Given the description of an element on the screen output the (x, y) to click on. 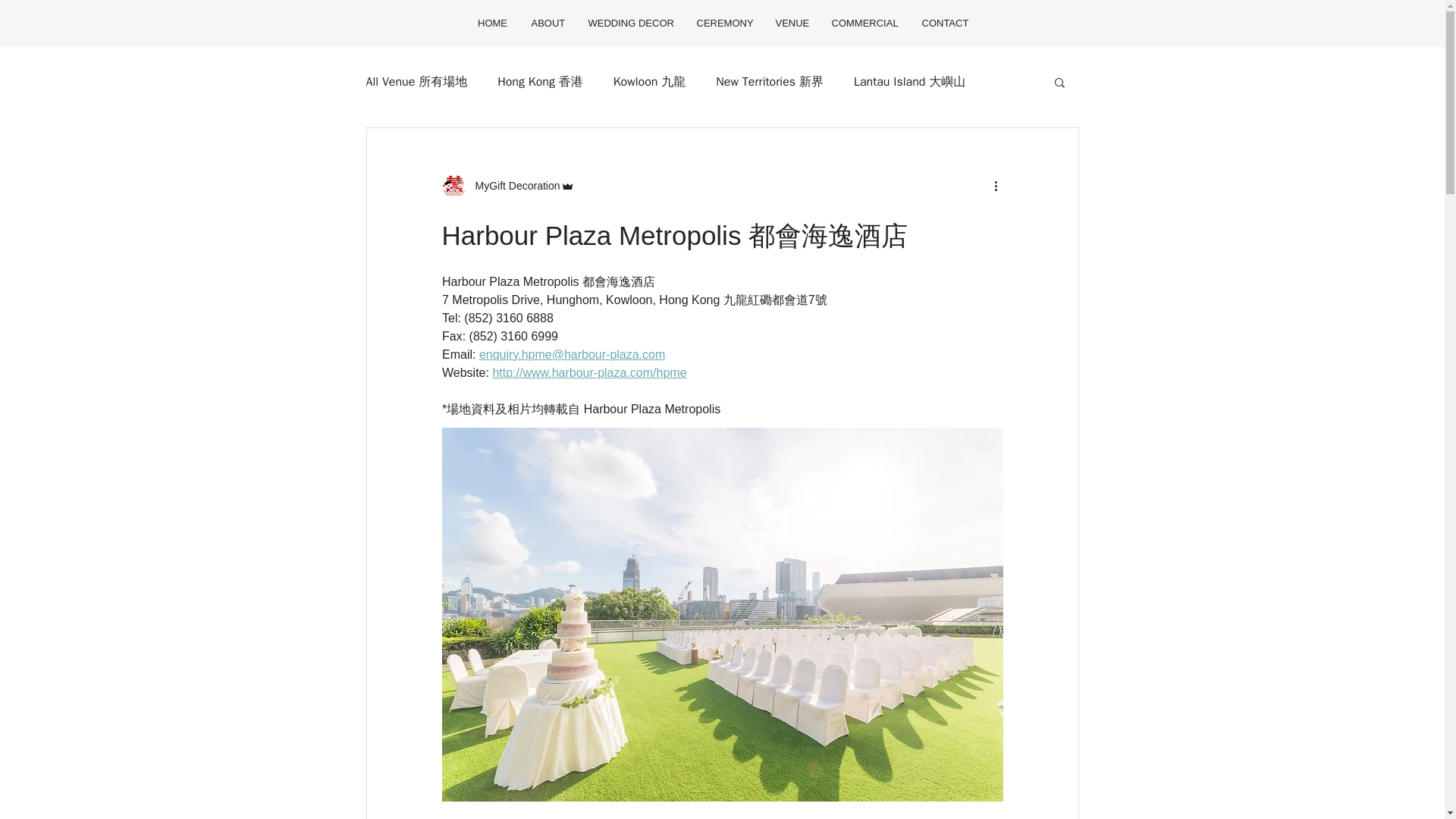
MyGift Decoration (512, 185)
WEDDING DECOR (630, 23)
ABOUT (546, 23)
CONTACT (944, 23)
CEREMONY (723, 23)
HOME (492, 23)
VENUE (790, 23)
COMMERCIAL (863, 23)
MyGift Decoration (507, 185)
